Given the description of an element on the screen output the (x, y) to click on. 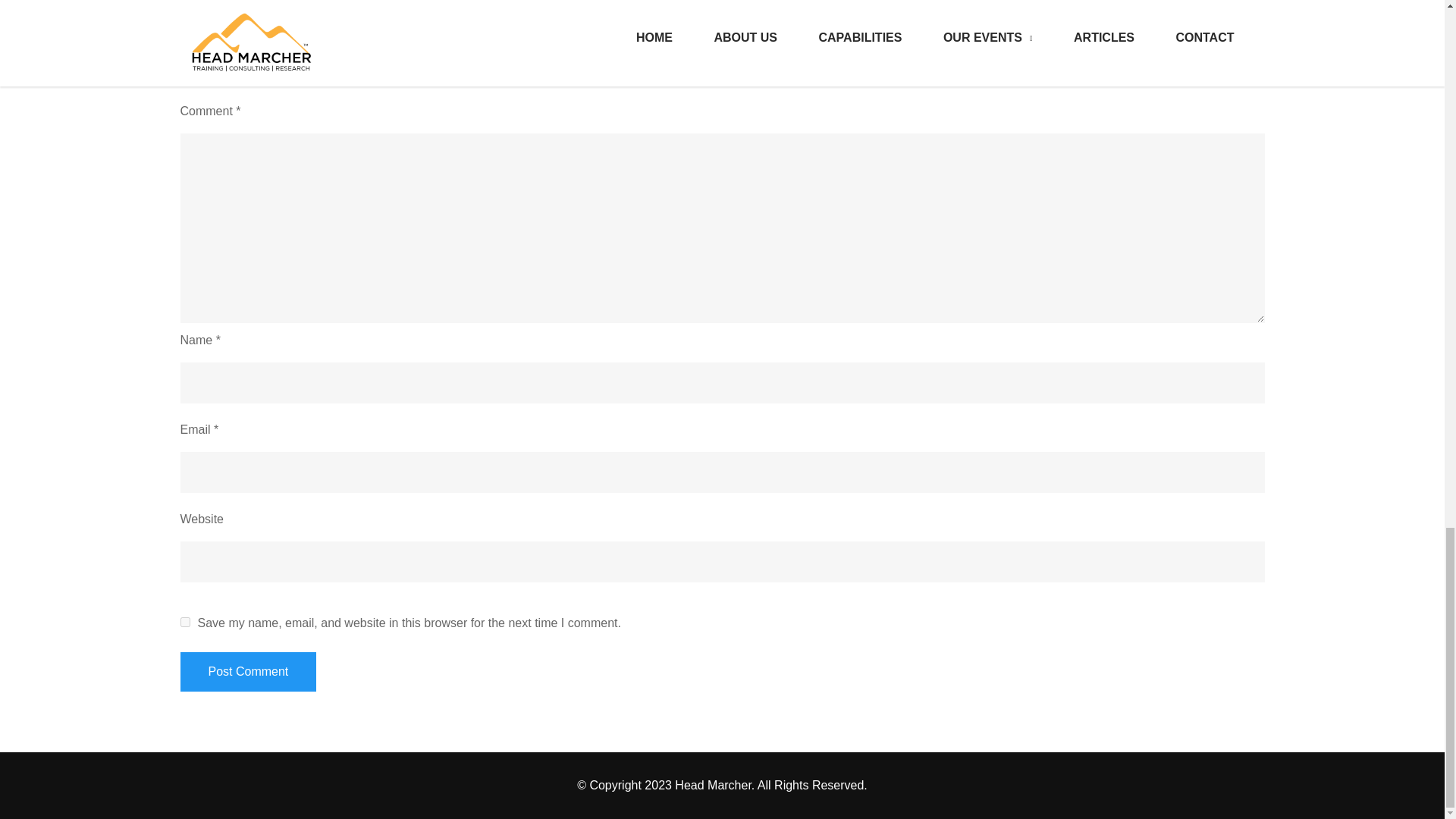
Post Comment (248, 671)
Post Comment (248, 671)
yes (185, 622)
